Given the description of an element on the screen output the (x, y) to click on. 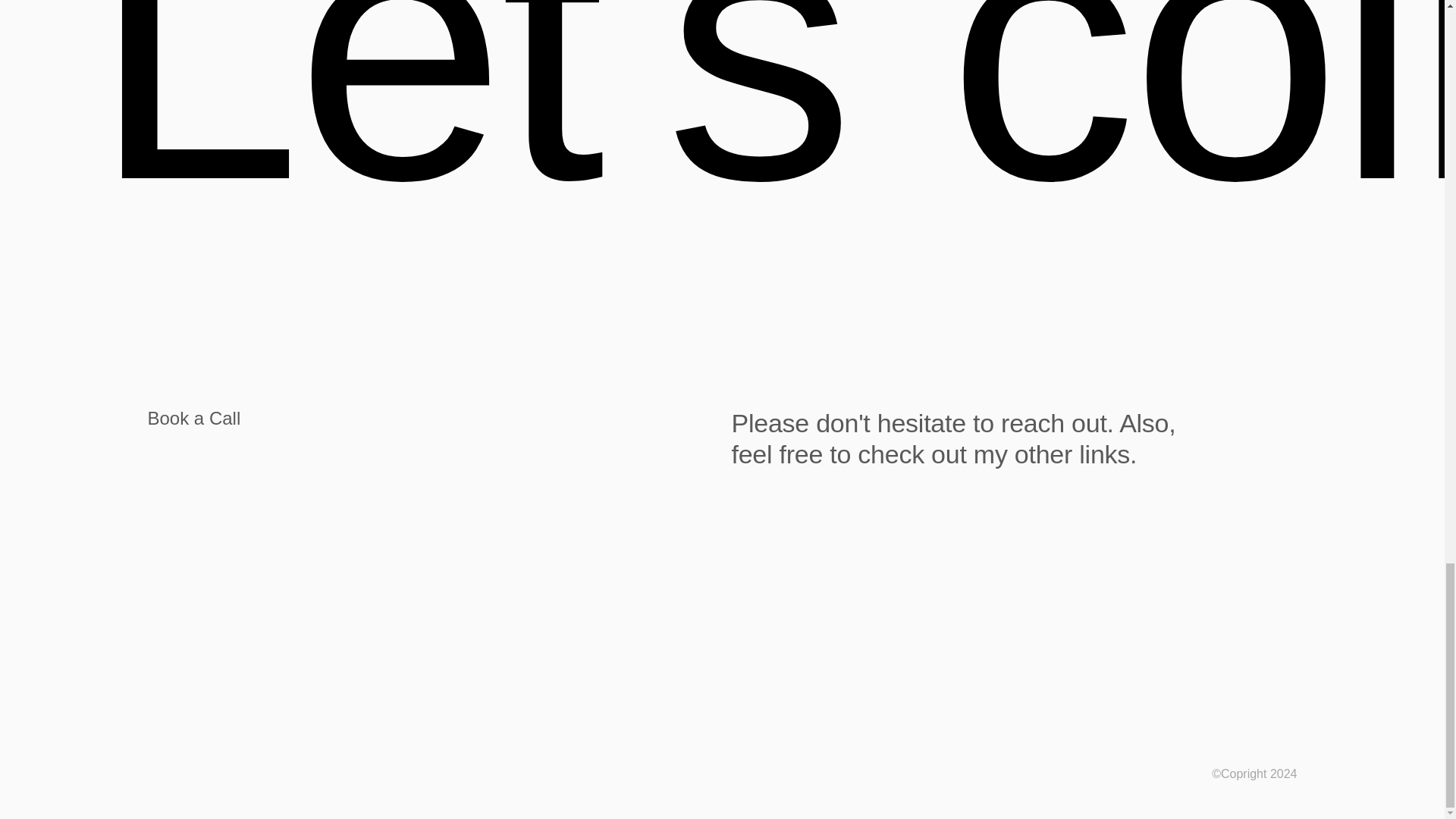
Behance (862, 540)
Medium (760, 621)
Zcool (957, 621)
Book a Call (430, 418)
Dribbble (761, 540)
Linkedin (962, 540)
Instagram (864, 621)
